Given the description of an element on the screen output the (x, y) to click on. 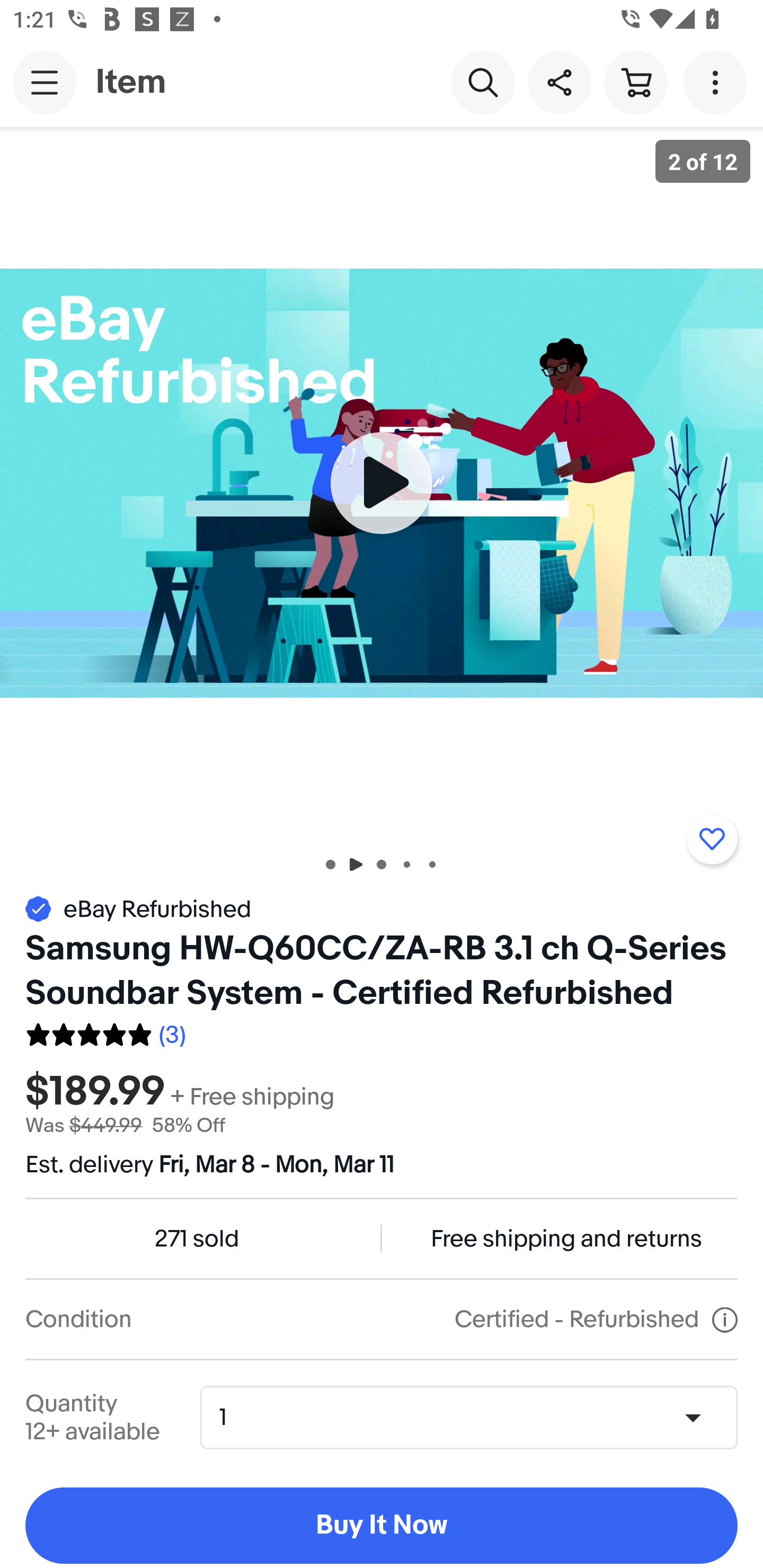
Main navigation, open (44, 82)
Search (482, 81)
Share this item (559, 81)
Cart button shopping cart (635, 81)
More options (718, 81)
Item image 2 of 12, plays video (381, 482)
Add to watchlist (711, 838)
3 reviews. Average rating 5.0 out of five 10.0 (3) (105, 1031)
Quantity,1,12+ available 1 (474, 1417)
Buy It Now (381, 1525)
